Given the description of an element on the screen output the (x, y) to click on. 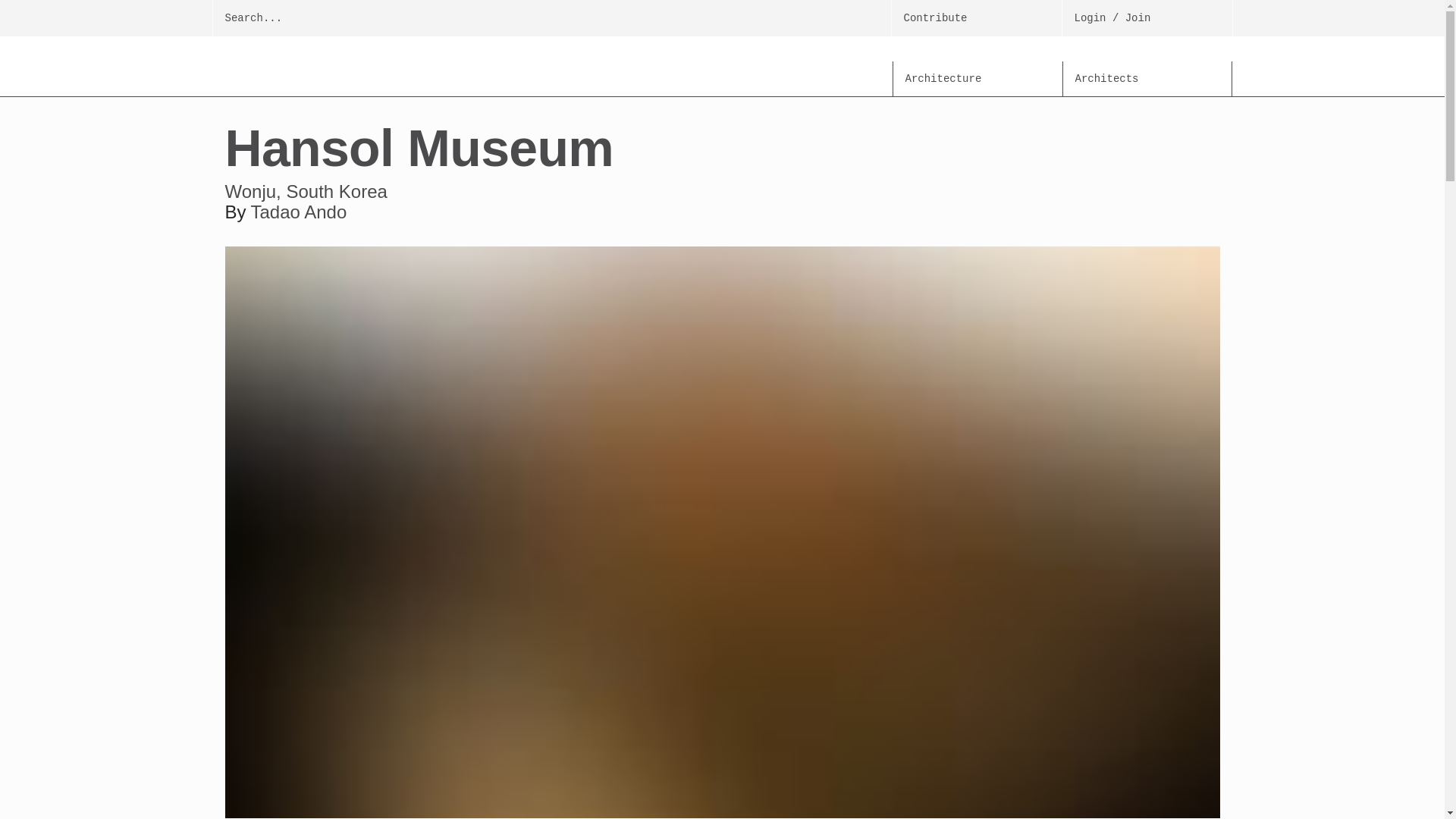
Architectuul (350, 66)
